Given the description of an element on the screen output the (x, y) to click on. 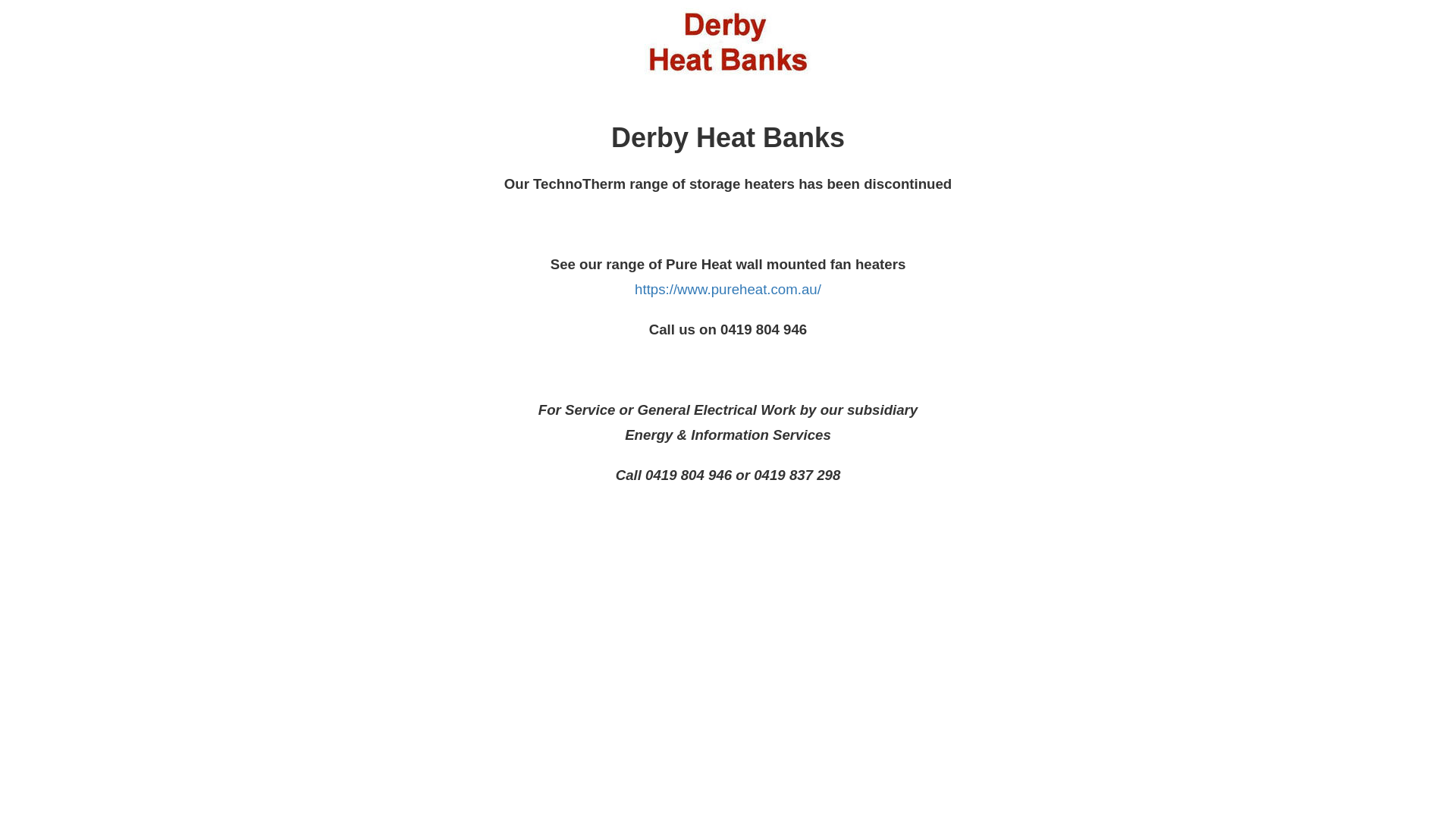
https://www.pureheat.com.au/ Element type: text (727, 289)
